Given the description of an element on the screen output the (x, y) to click on. 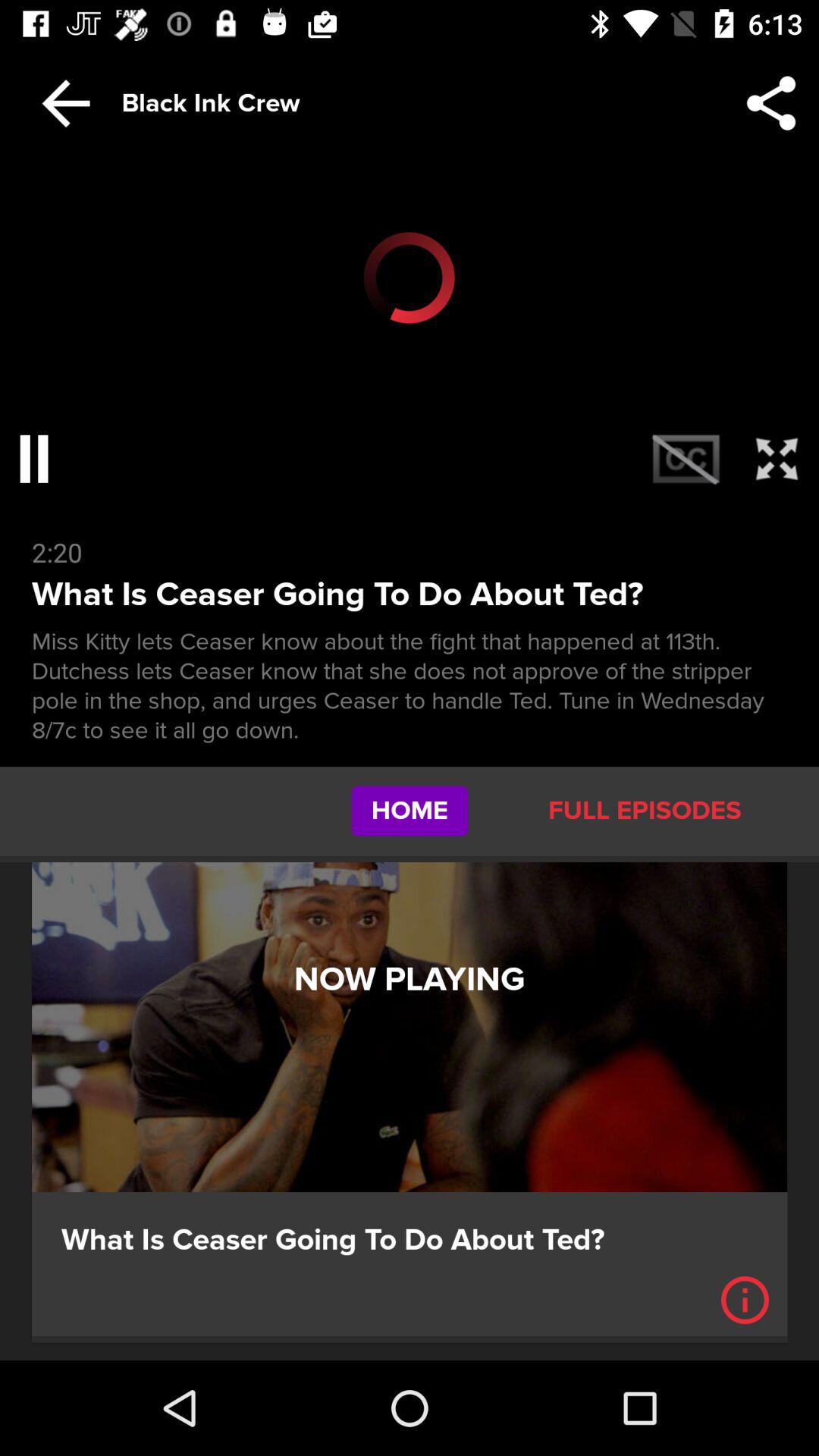
select the button which is to the immediate right of black ink crew (771, 103)
select information or i icon which is on the bottom right corner of the page (745, 1300)
click on the home button (409, 811)
go to the cc icon (686, 458)
click on the expand symbol (776, 458)
